Given the description of an element on the screen output the (x, y) to click on. 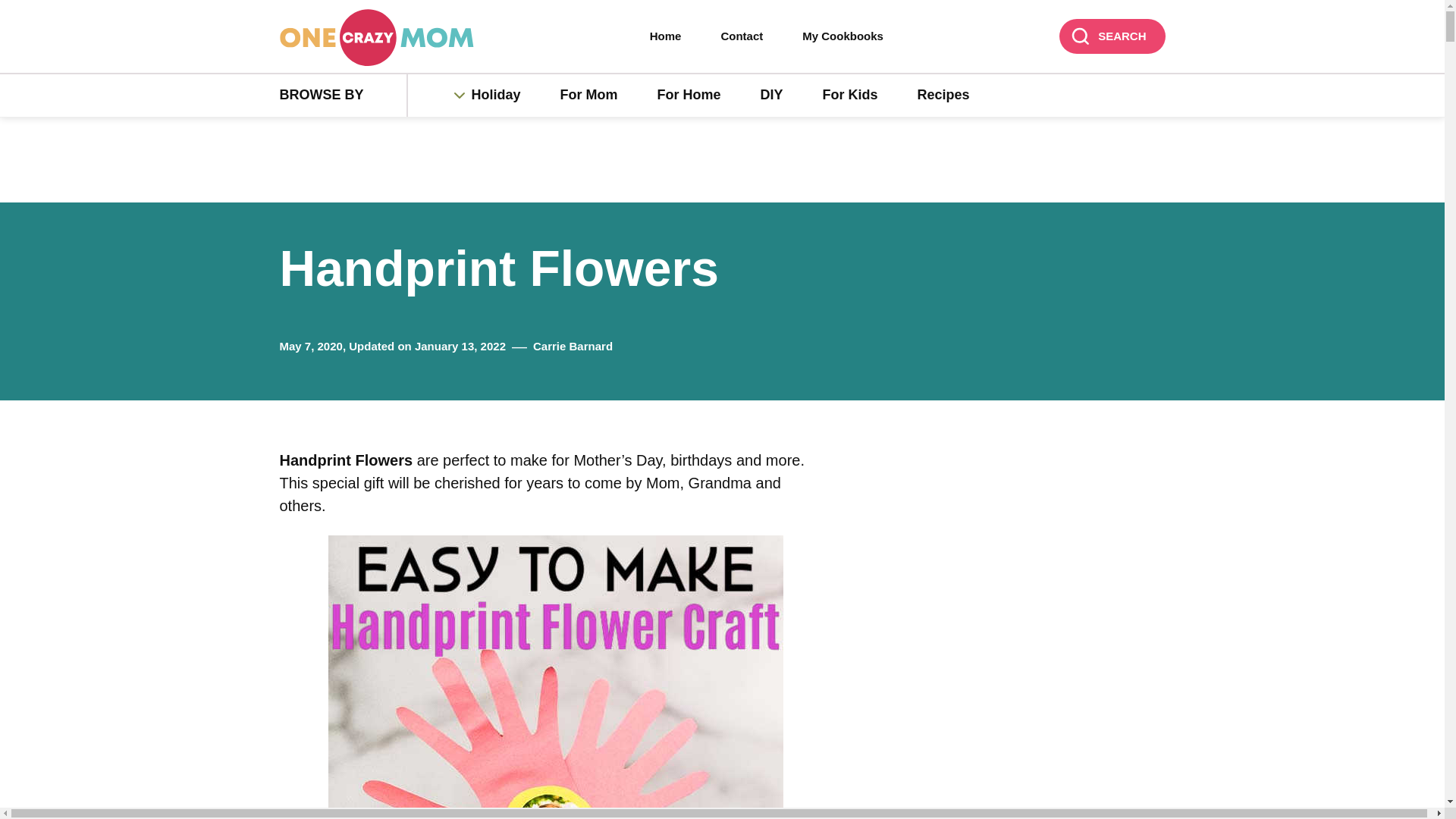
For Mom (588, 95)
My Cookbooks (842, 36)
Contact (741, 36)
For Home (689, 95)
SEARCH (1111, 36)
BROWSE BY (342, 95)
DIY (772, 95)
Recipes (944, 95)
One Crazy Mom (376, 37)
